Given the description of an element on the screen output the (x, y) to click on. 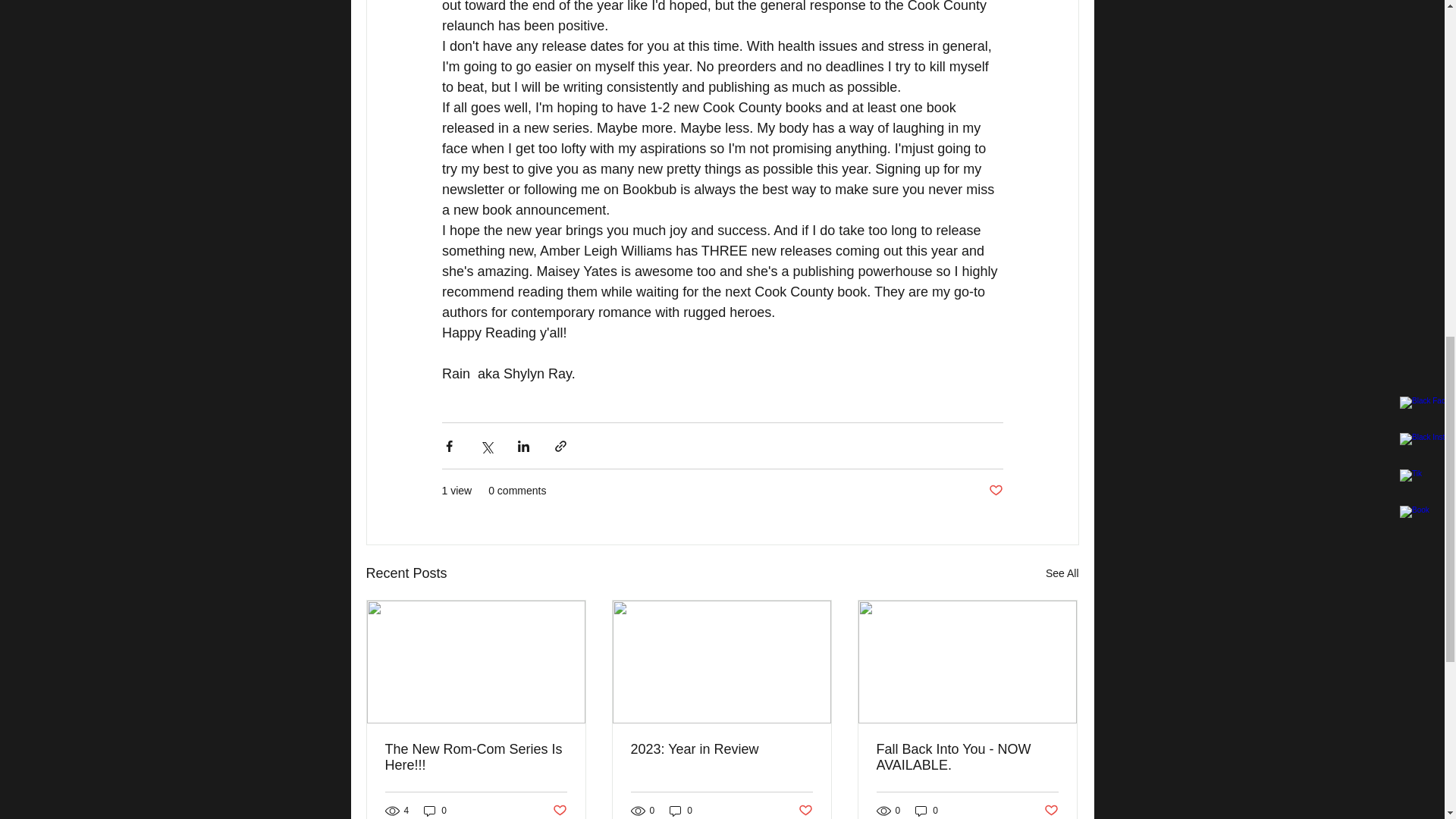
The New Rom-Com Series Is Here!!! (476, 757)
0 (926, 810)
0 (435, 810)
2023: Year in Review (721, 749)
See All (1061, 573)
Post not marked as liked (1050, 811)
Post not marked as liked (804, 811)
0 (681, 810)
Post not marked as liked (995, 490)
Fall Back Into You - NOW AVAILABLE. (967, 757)
Post not marked as liked (558, 811)
